Given the description of an element on the screen output the (x, y) to click on. 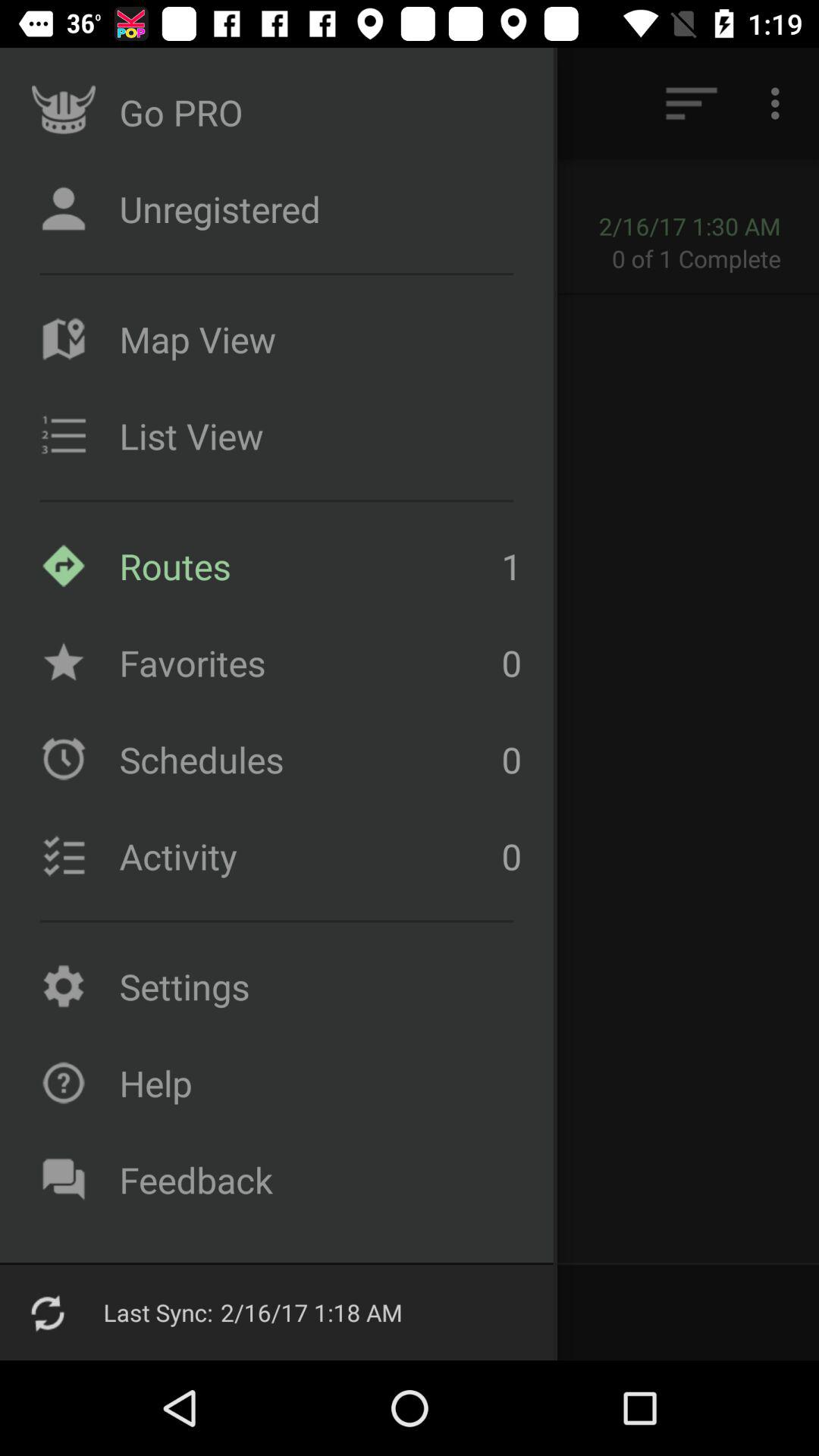
turn on item next to 0 item (306, 759)
